Given the description of an element on the screen output the (x, y) to click on. 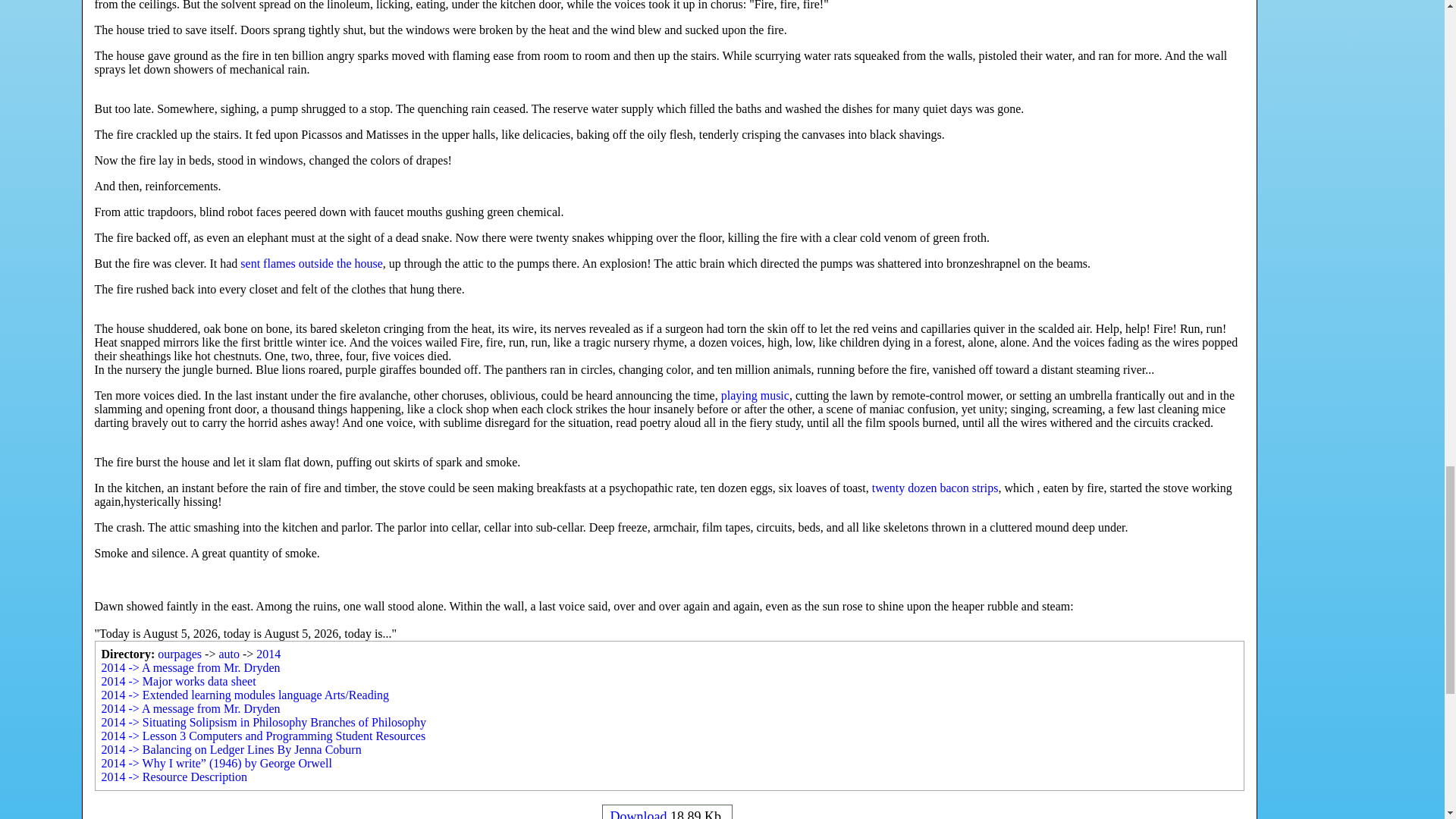
Download (638, 814)
auto (229, 653)
2014 (268, 653)
twenty dozen bacon strips (935, 487)
sent flames outside the house (311, 263)
ourpages (179, 653)
playing music (754, 395)
